Given the description of an element on the screen output the (x, y) to click on. 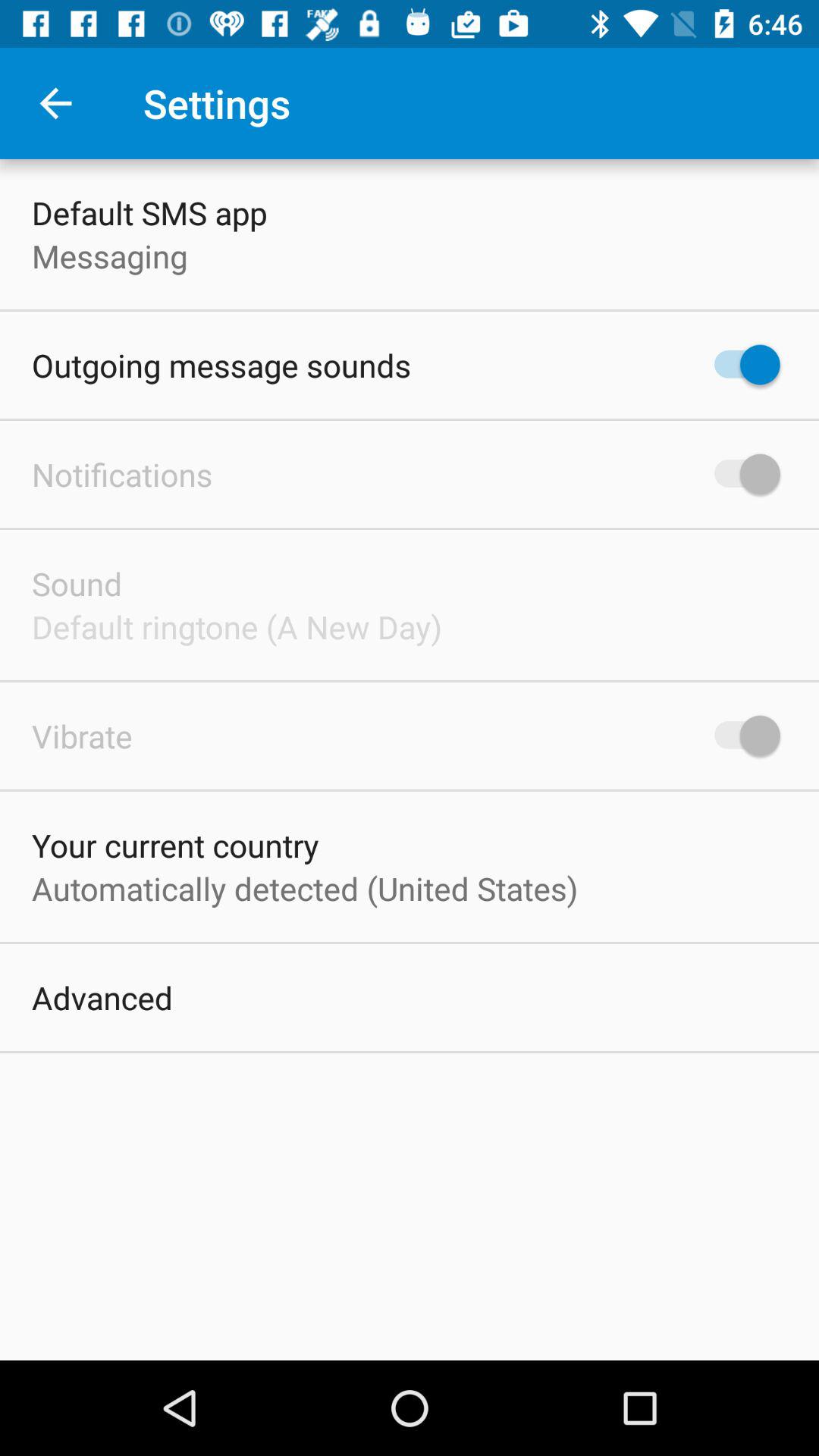
press the item above your current country (81, 735)
